Given the description of an element on the screen output the (x, y) to click on. 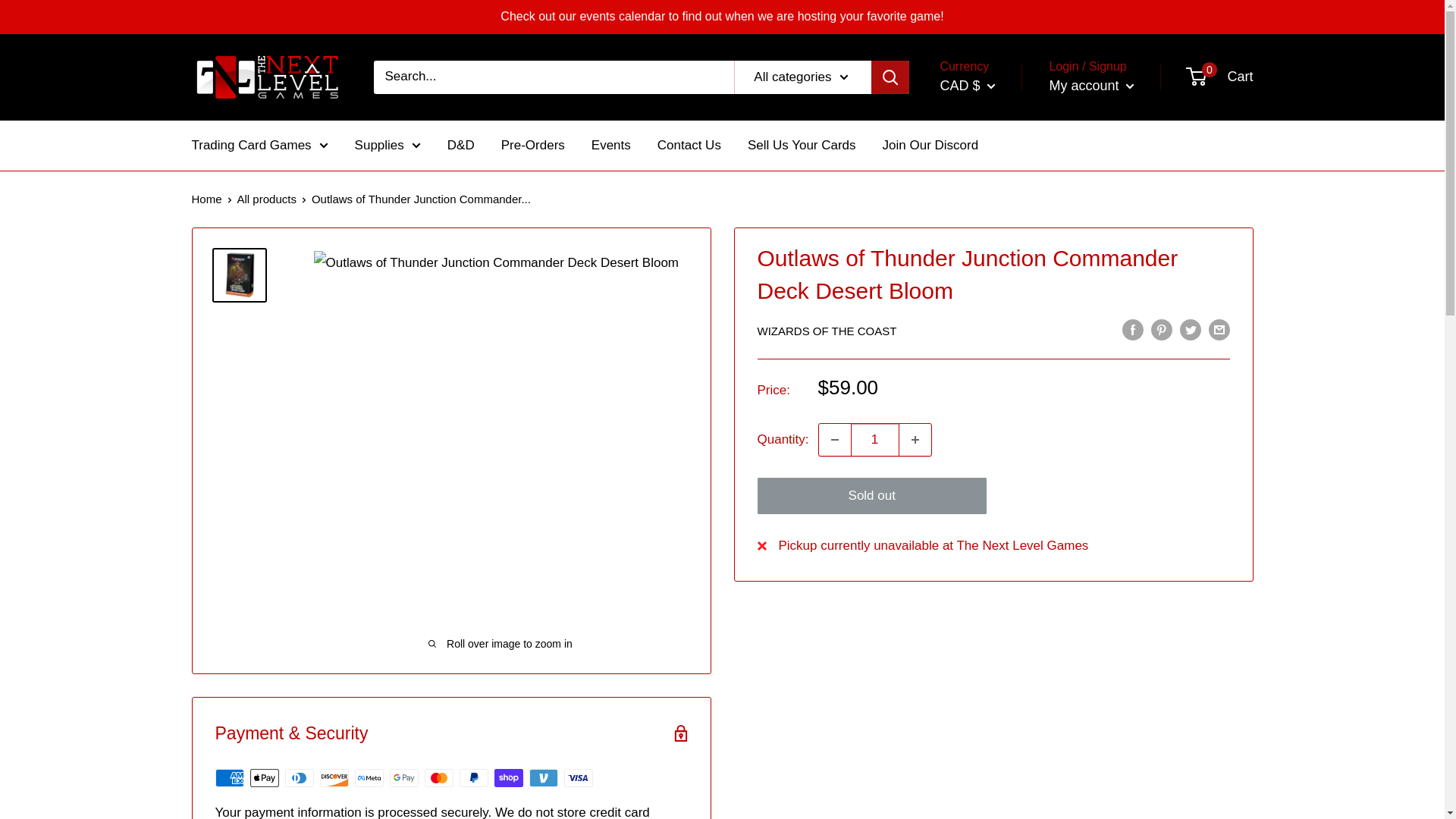
Decrease quantity by 1 (834, 439)
Increase quantity by 1 (915, 439)
1 (874, 439)
